Given the description of an element on the screen output the (x, y) to click on. 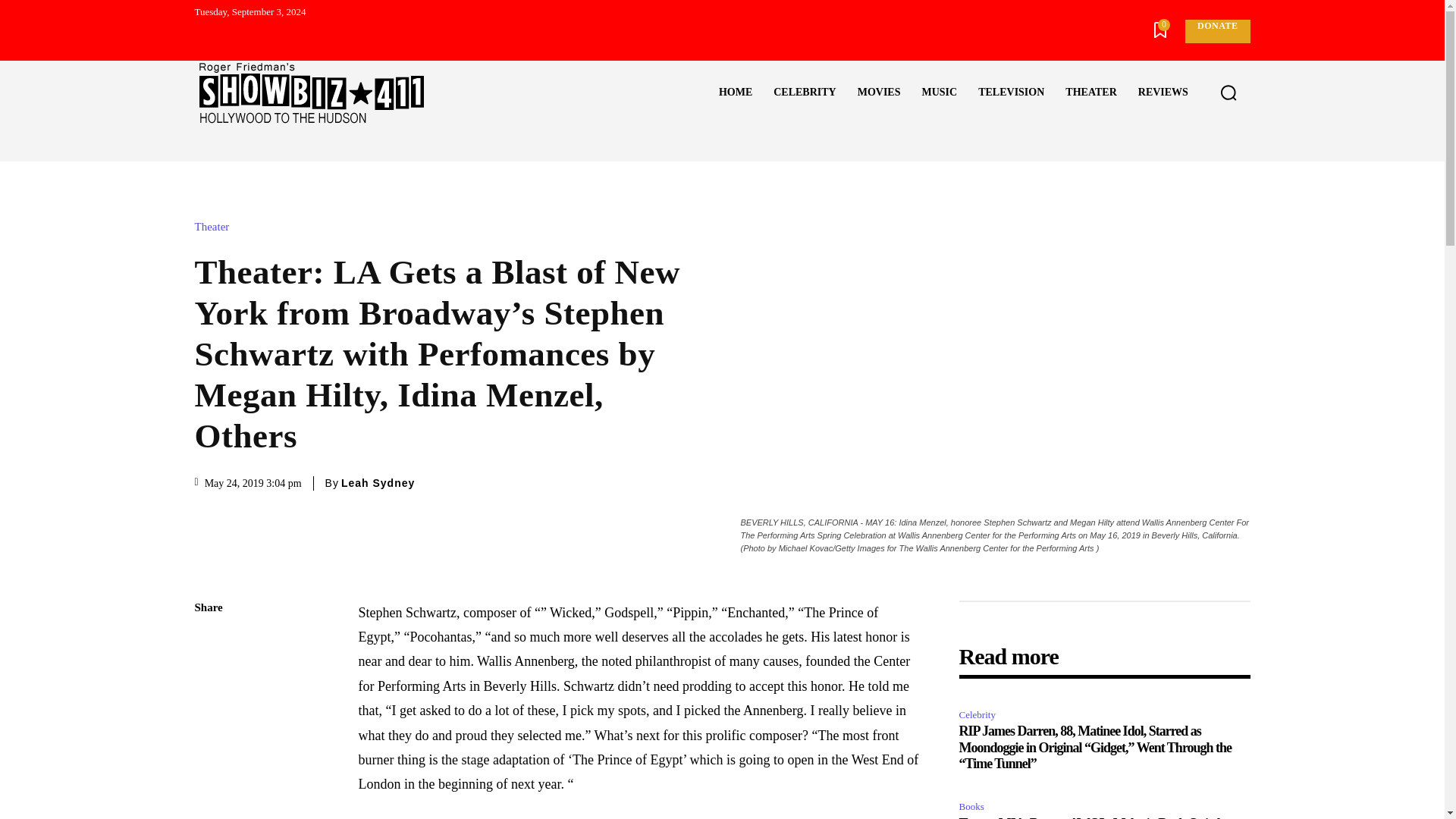
Donate (1217, 31)
Theater (214, 226)
REVIEWS (1162, 92)
THEATER (1090, 92)
CELEBRITY (803, 92)
HOME (734, 92)
TELEVISION (1011, 92)
MUSIC (939, 92)
MOVIES (879, 92)
DONATE (1217, 31)
